Given the description of an element on the screen output the (x, y) to click on. 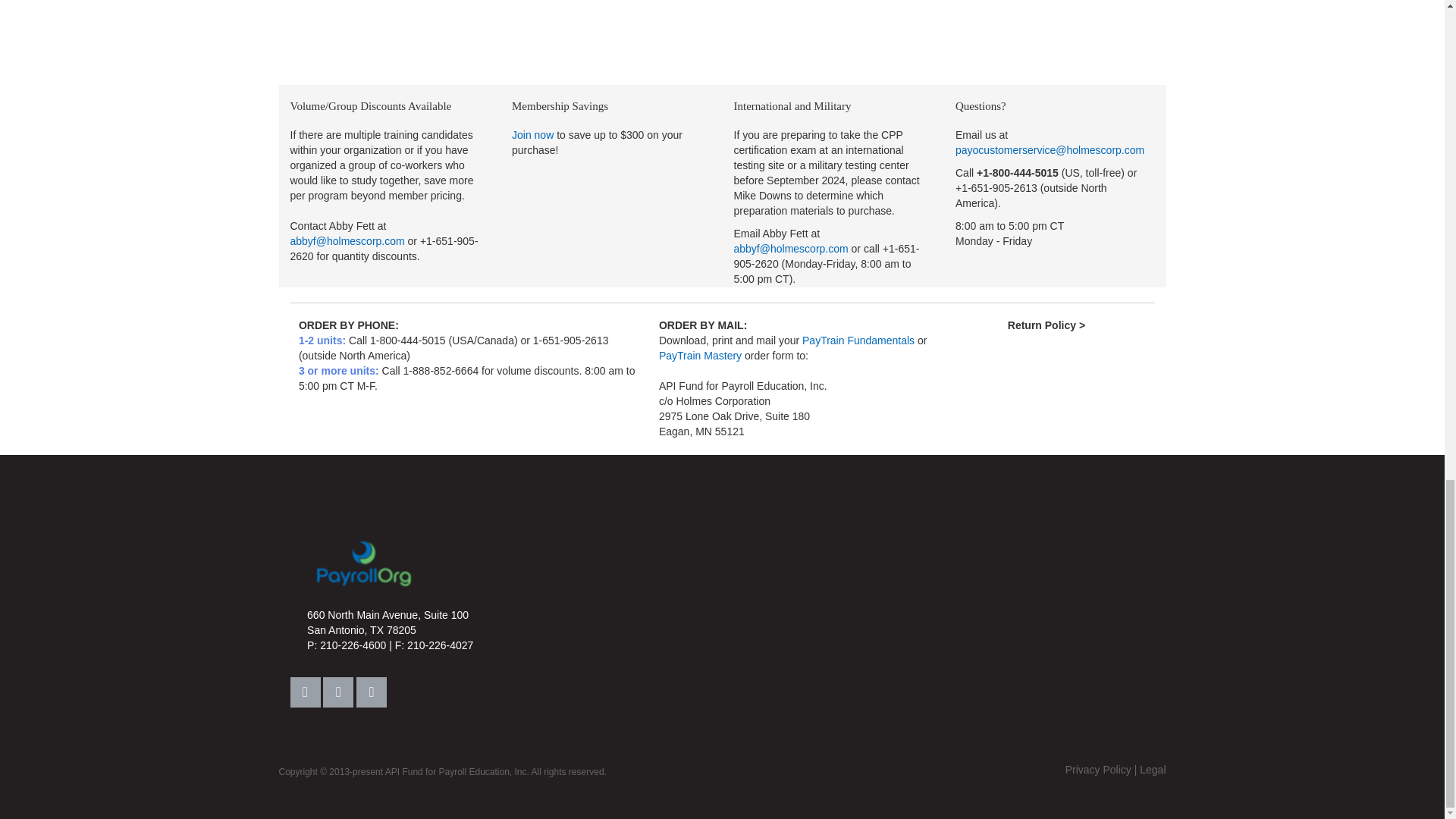
Follow APA on Twitter (339, 688)
PayTrain Mastery (700, 355)
Privacy Policy (1098, 769)
PayTrain Fundamentals (858, 340)
Linked in (371, 688)
Join now (532, 134)
Join us on Facebook (306, 688)
Legal (1153, 769)
